Given the description of an element on the screen output the (x, y) to click on. 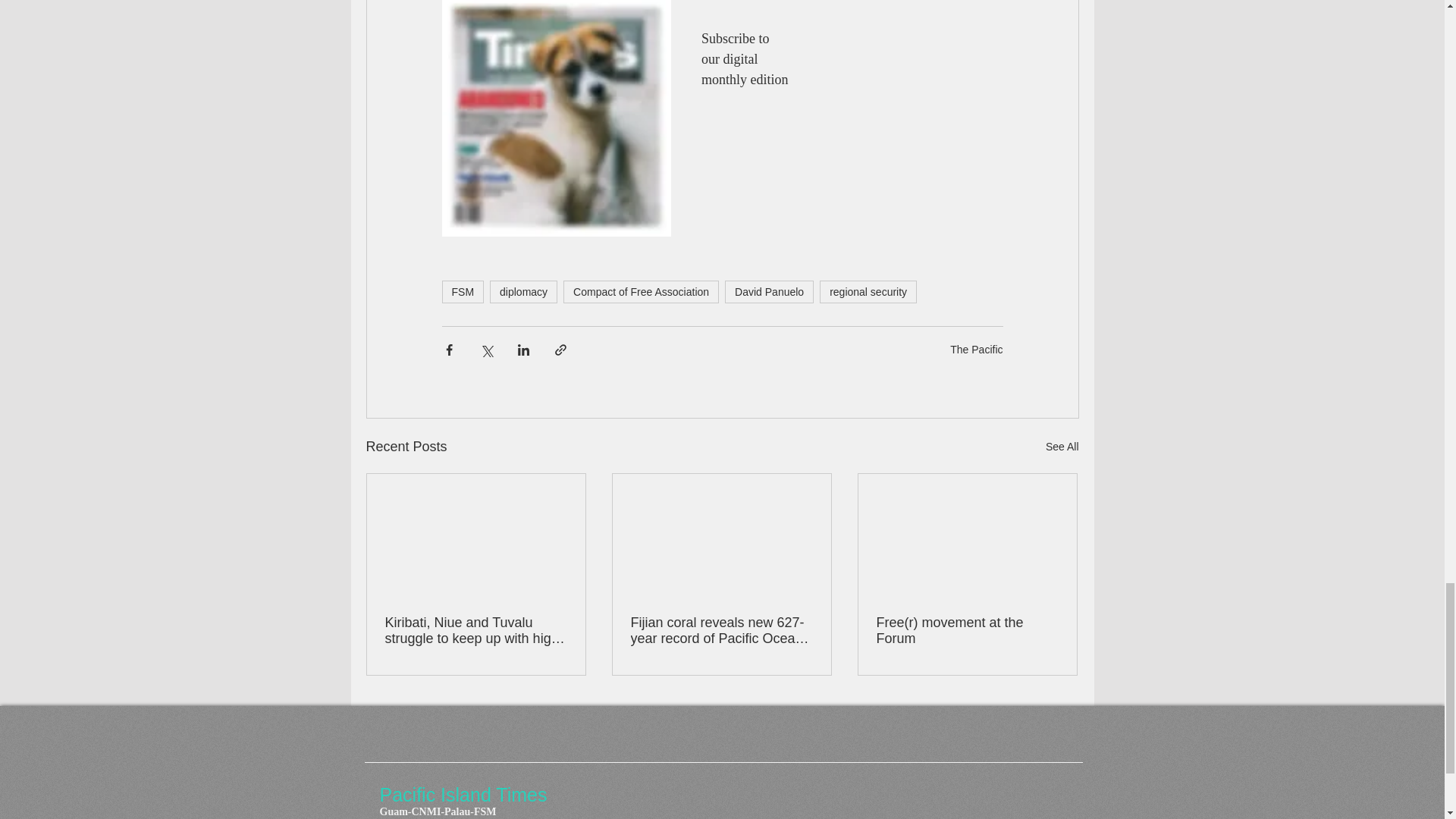
diplomacy (523, 291)
Compact of Free Association (641, 291)
FSM (462, 291)
